Given the description of an element on the screen output the (x, y) to click on. 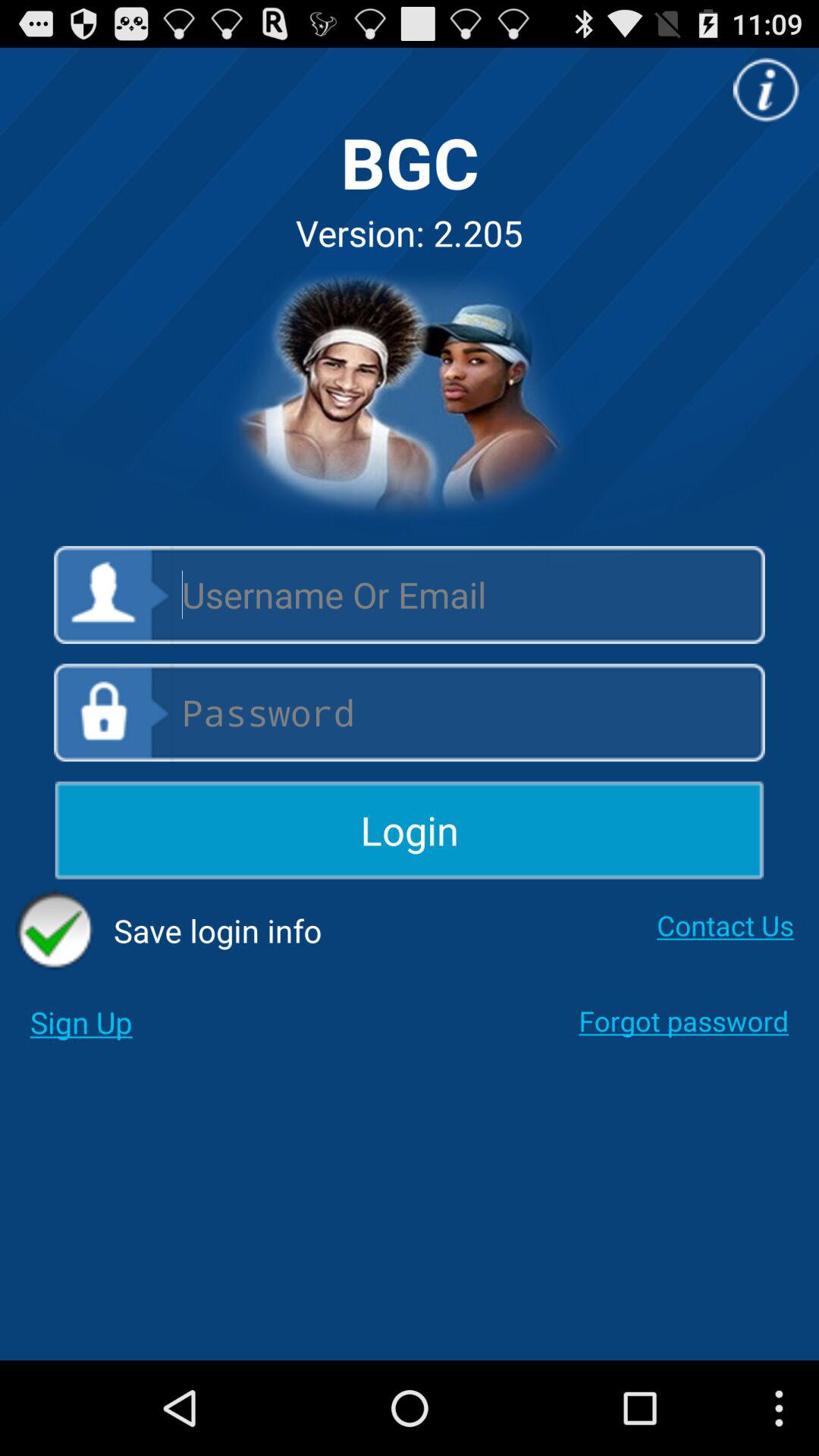
open the icon at the bottom left corner (81, 1022)
